Given the description of an element on the screen output the (x, y) to click on. 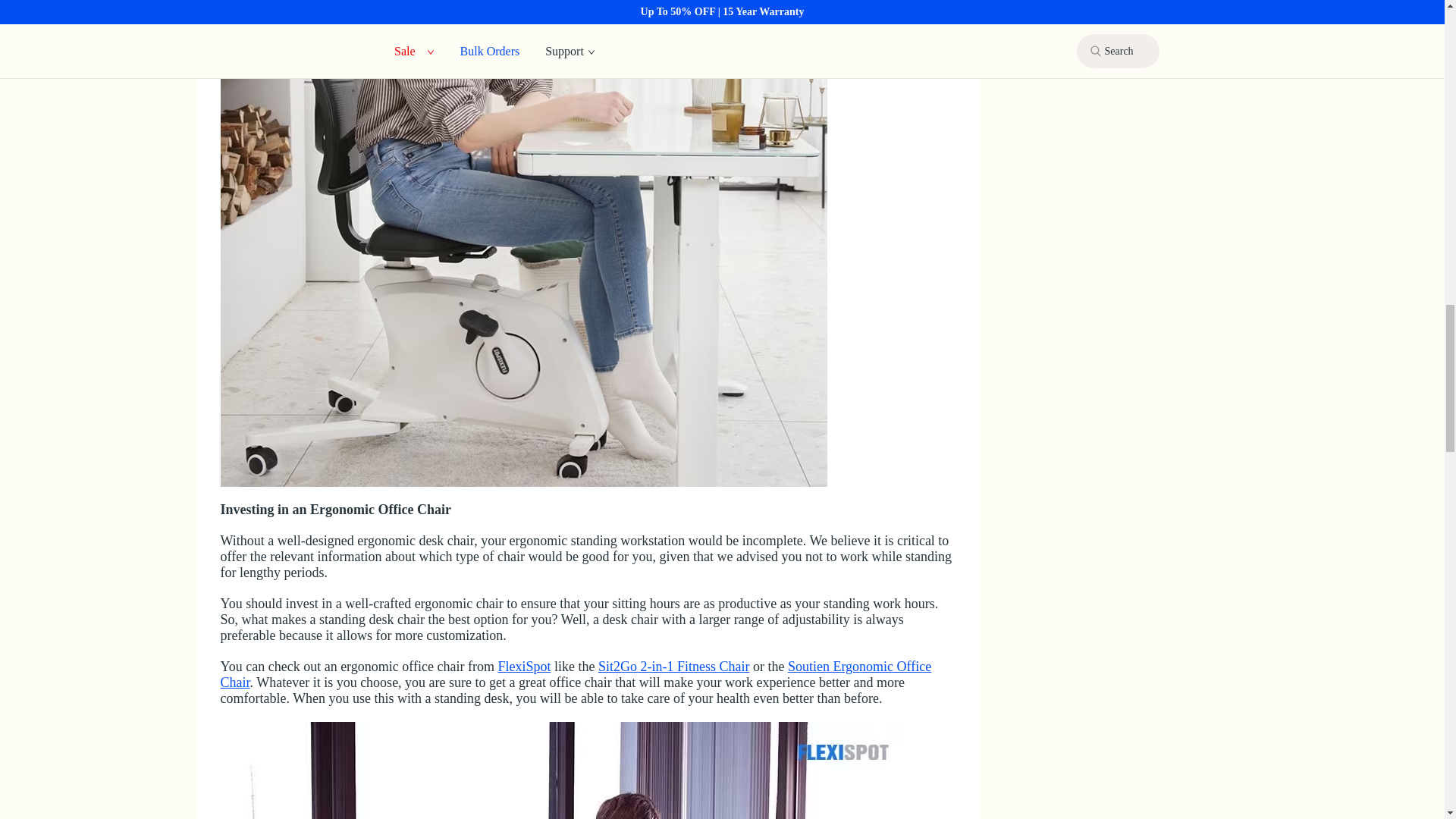
Ergonomic Anti Fatigue Mat DM1 (566, 770)
Soutien Ergonomic Office Chair (575, 674)
FlexiSpot (523, 666)
Sit2Go 2-in-1 Fitness Chair (673, 666)
